Given the description of an element on the screen output the (x, y) to click on. 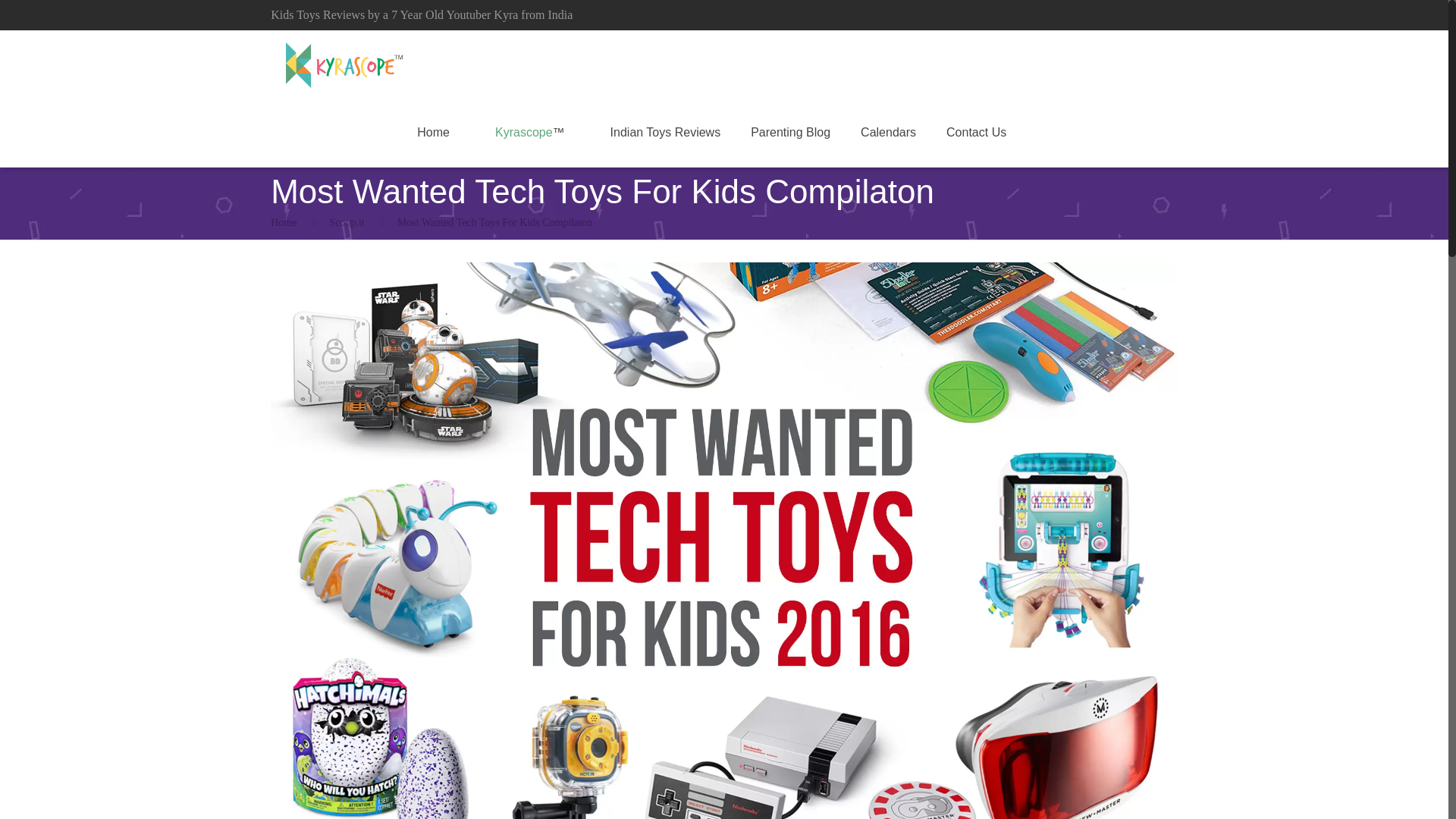
Indian Toys Reviews (665, 132)
Parenting Blog (790, 132)
Contact Us (976, 132)
Scoop.it (346, 222)
Calendars (888, 132)
Home (283, 222)
Home (432, 132)
